Given the description of an element on the screen output the (x, y) to click on. 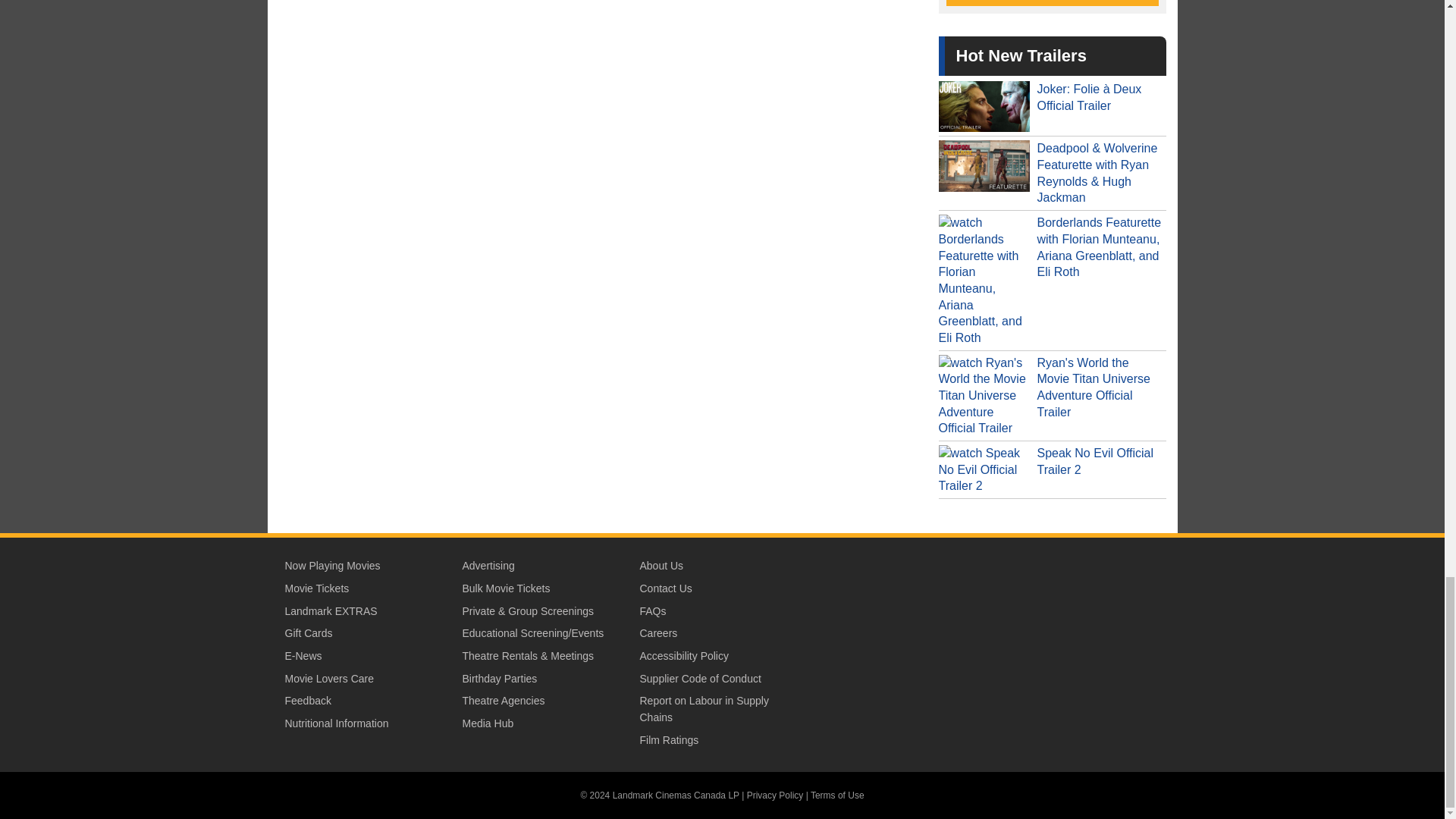
Click For Details (1052, 2)
Speak No Evil Official Trailer 2 (1052, 469)
